Given the description of an element on the screen output the (x, y) to click on. 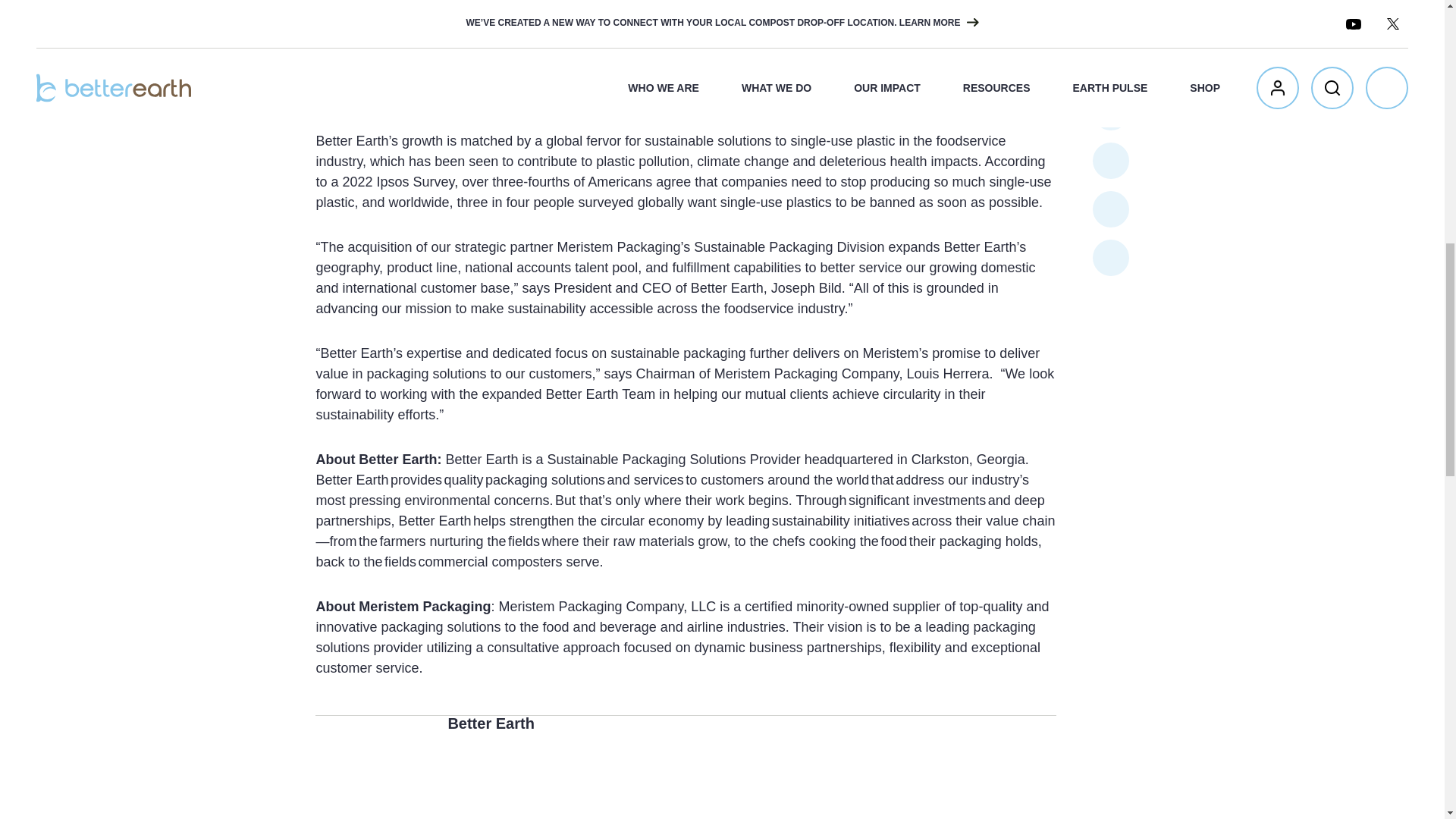
Share on LinkedIn (1111, 3)
Share (1111, 37)
